Given the description of an element on the screen output the (x, y) to click on. 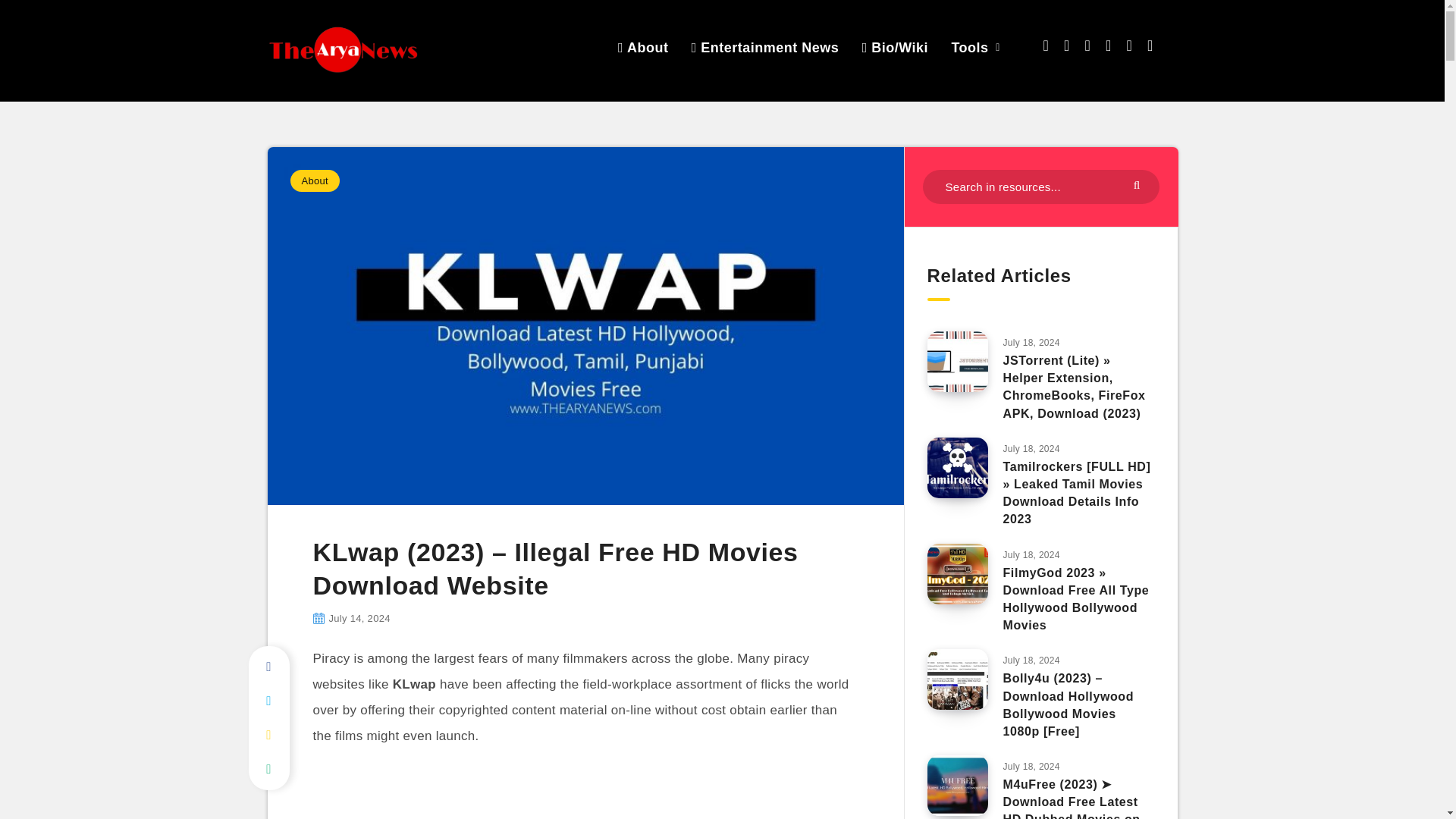
Entertainment News (765, 47)
About (314, 180)
About (642, 47)
Tools (969, 47)
Advertisement (585, 793)
